Given the description of an element on the screen output the (x, y) to click on. 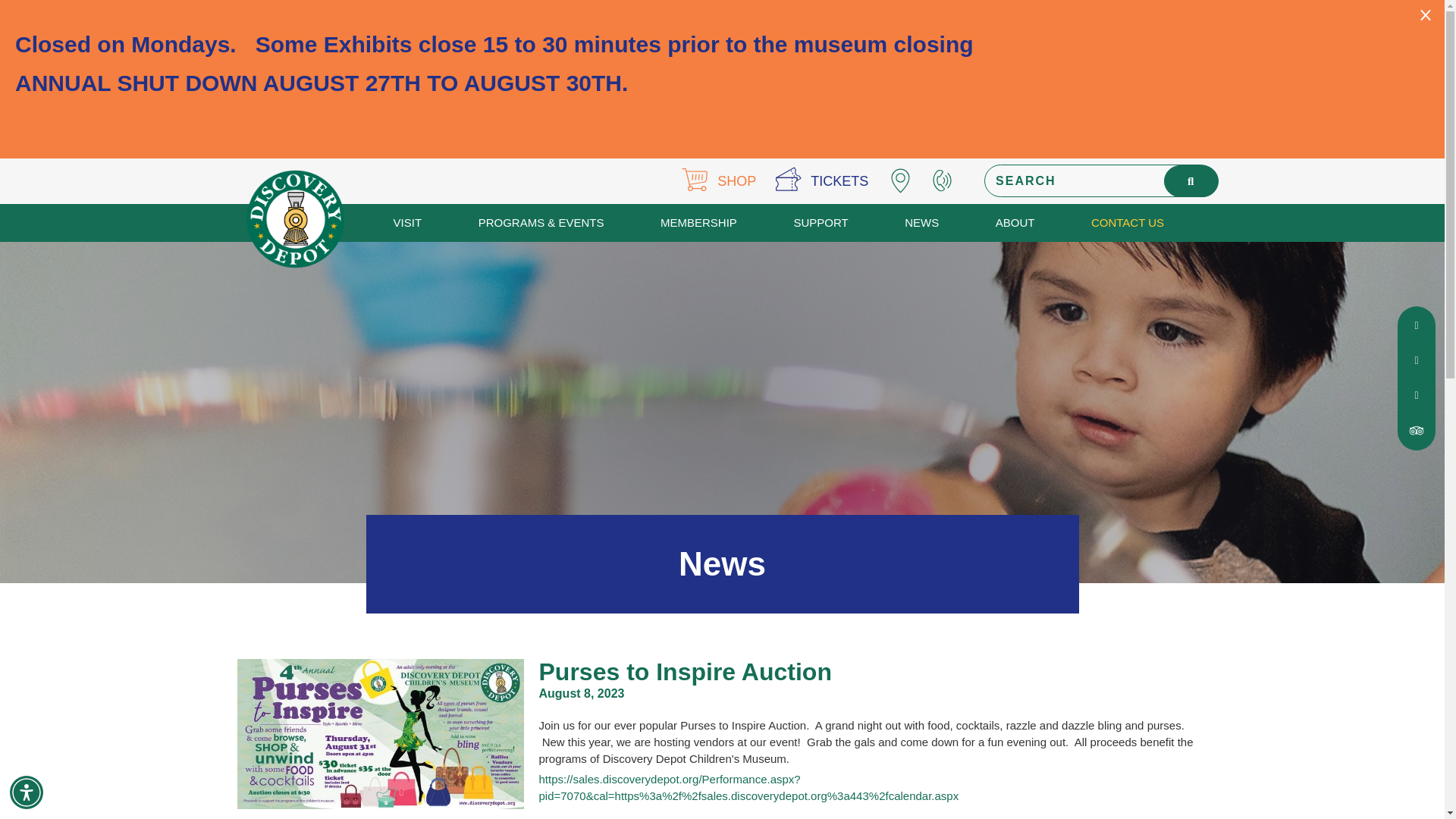
ABOUT (1014, 222)
CONTACT US (1127, 222)
MEMBERSHIP (698, 222)
Accessibility Menu (26, 792)
TICKETS (820, 181)
SHOP (718, 181)
NEWS (921, 222)
